Given the description of an element on the screen output the (x, y) to click on. 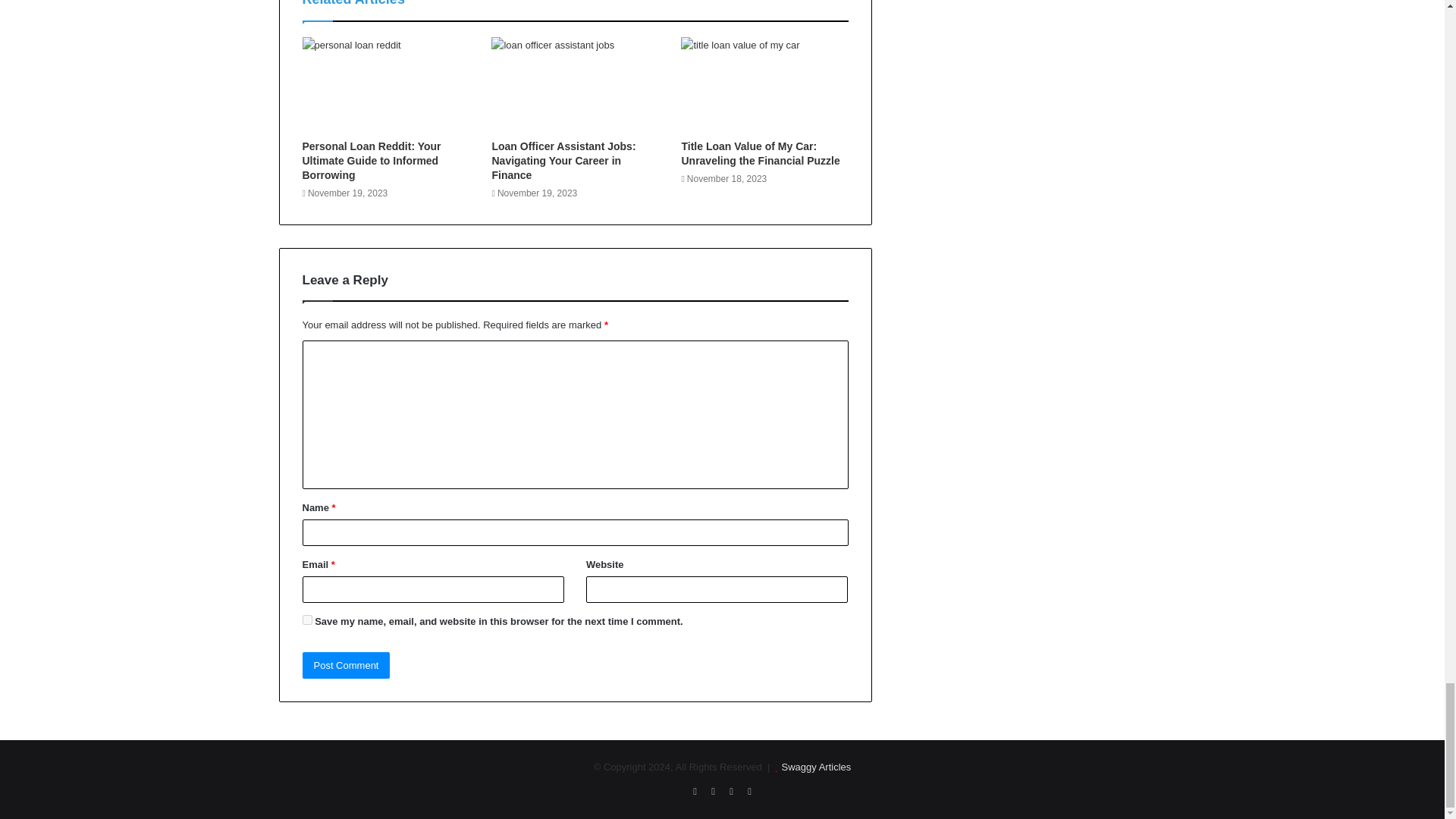
yes (306, 619)
Post Comment (345, 664)
